Given the description of an element on the screen output the (x, y) to click on. 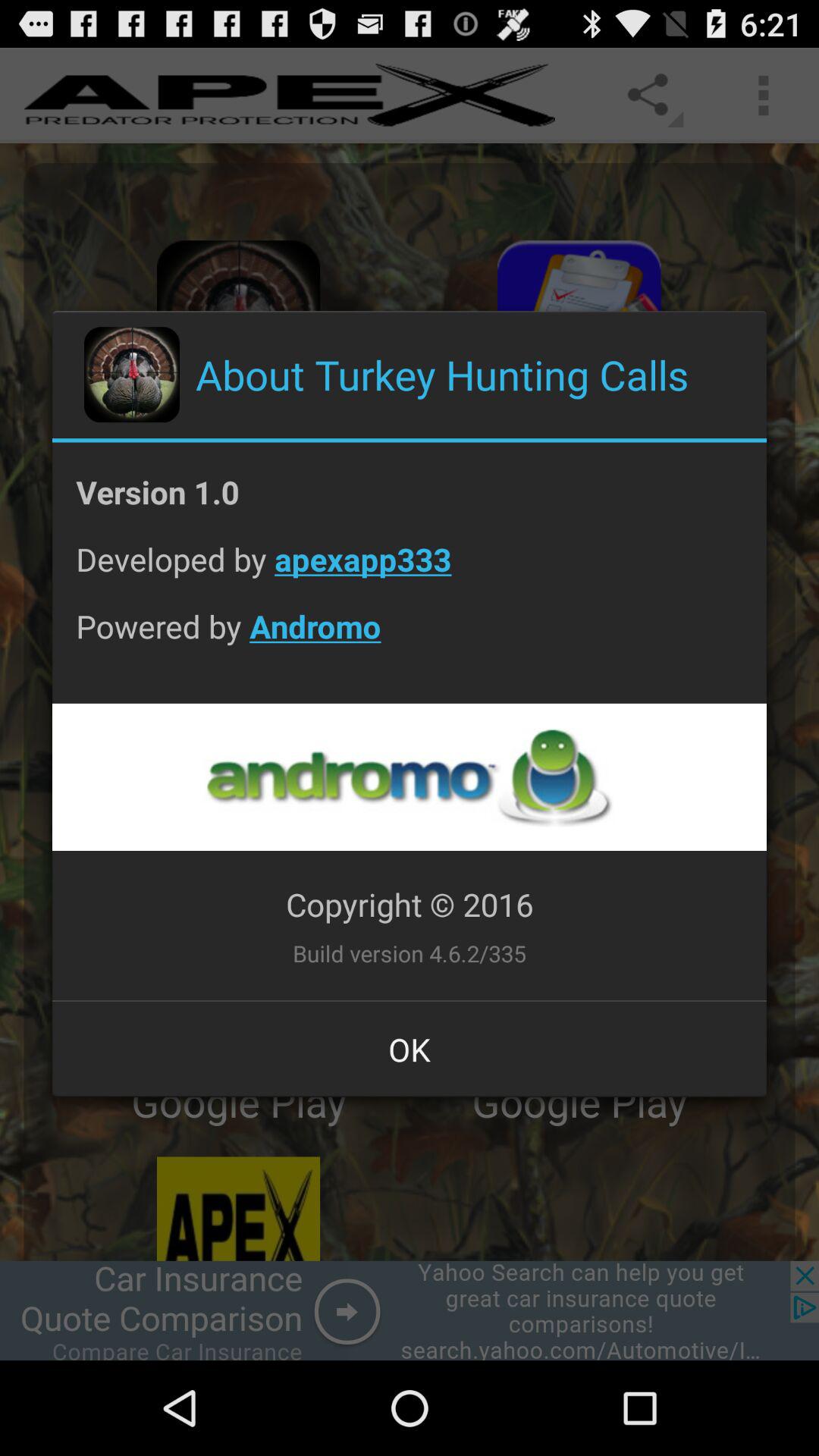
choose the icon above the powered by andromo item (409, 570)
